Given the description of an element on the screen output the (x, y) to click on. 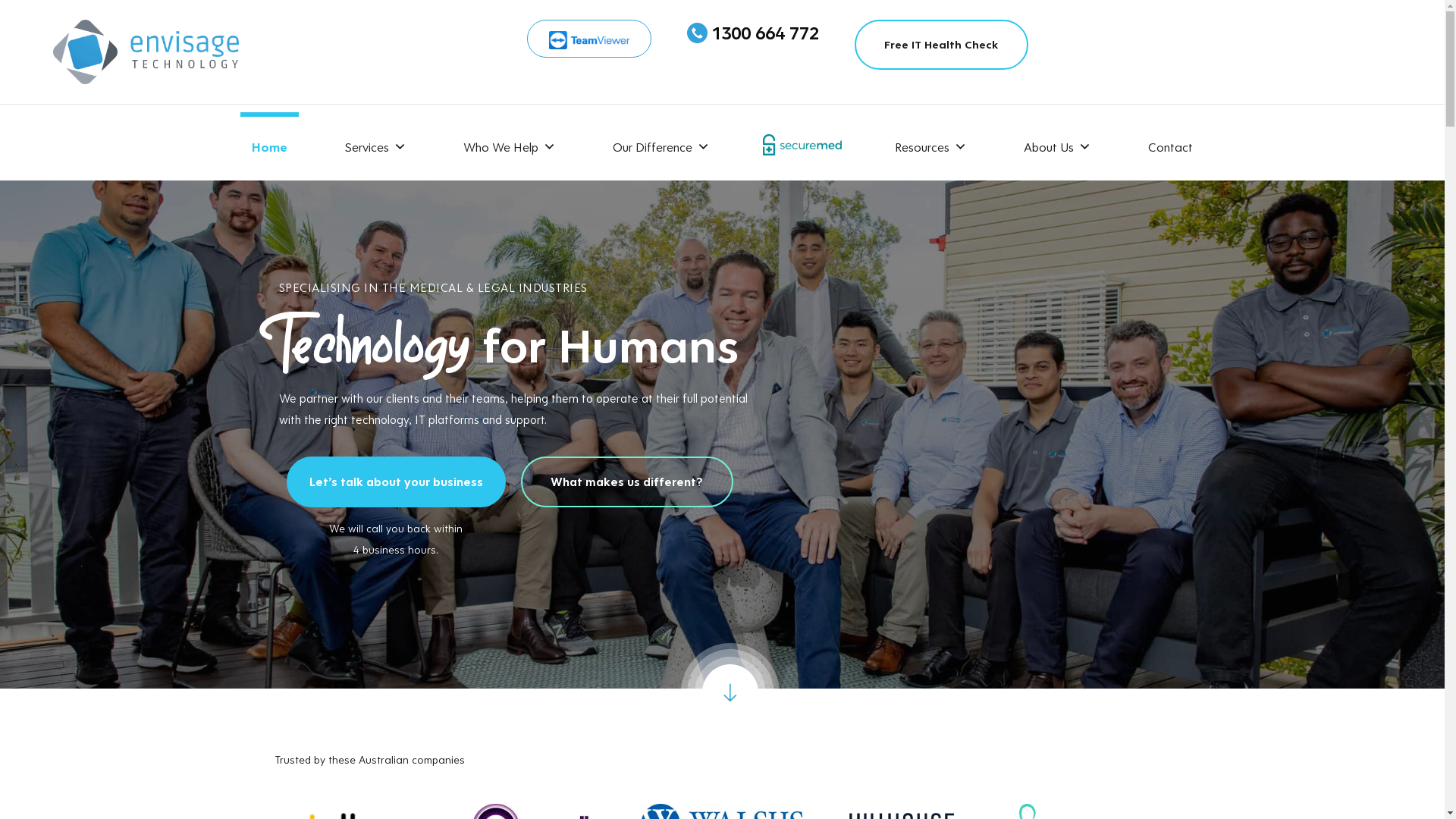
1300 664 772 Element type: text (765, 32)
Free IT Health Check Element type: text (941, 44)
What makes us different? Element type: text (626, 481)
Services Element type: text (374, 142)
Who We Help Element type: text (509, 142)
Resources Element type: text (930, 142)
About Us Element type: text (1057, 142)
Contact Element type: text (1170, 142)
Securemed Element type: text (802, 142)
Our Difference Element type: text (661, 142)
Home Element type: text (269, 142)
